Given the description of an element on the screen output the (x, y) to click on. 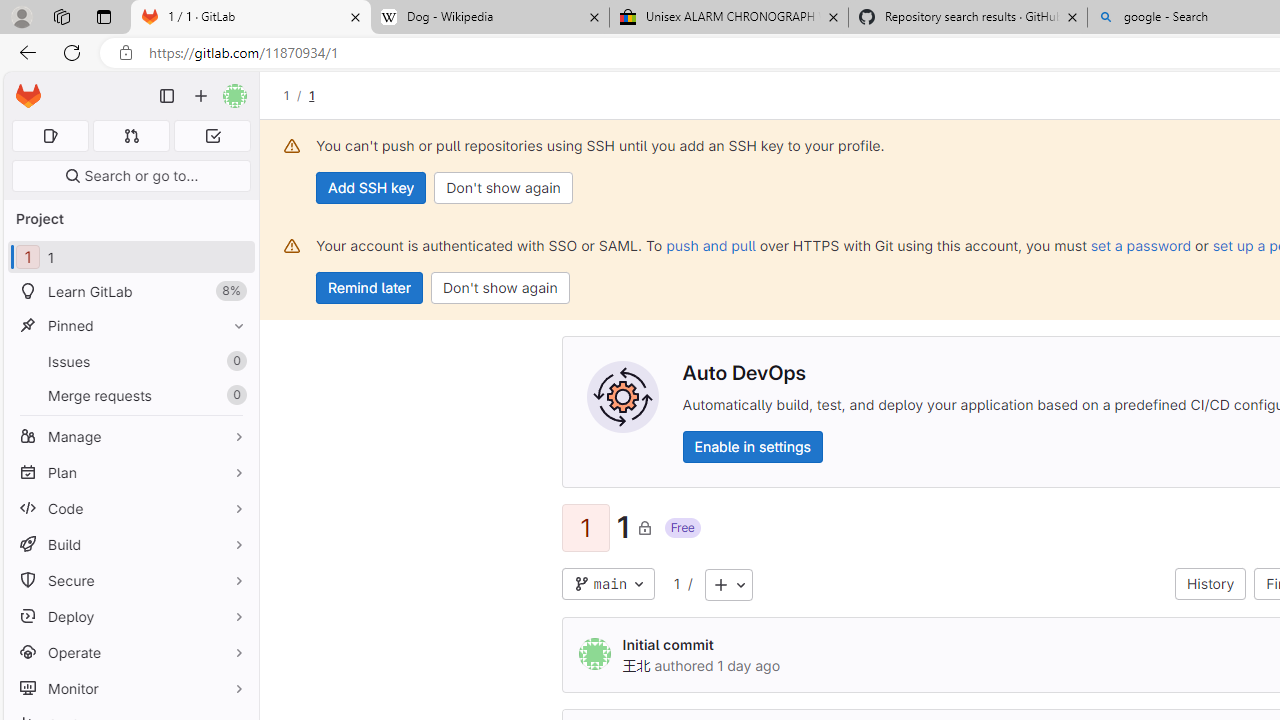
1 (676, 584)
Class: s16 icon (644, 527)
Add to tree (728, 584)
